Given the description of an element on the screen output the (x, y) to click on. 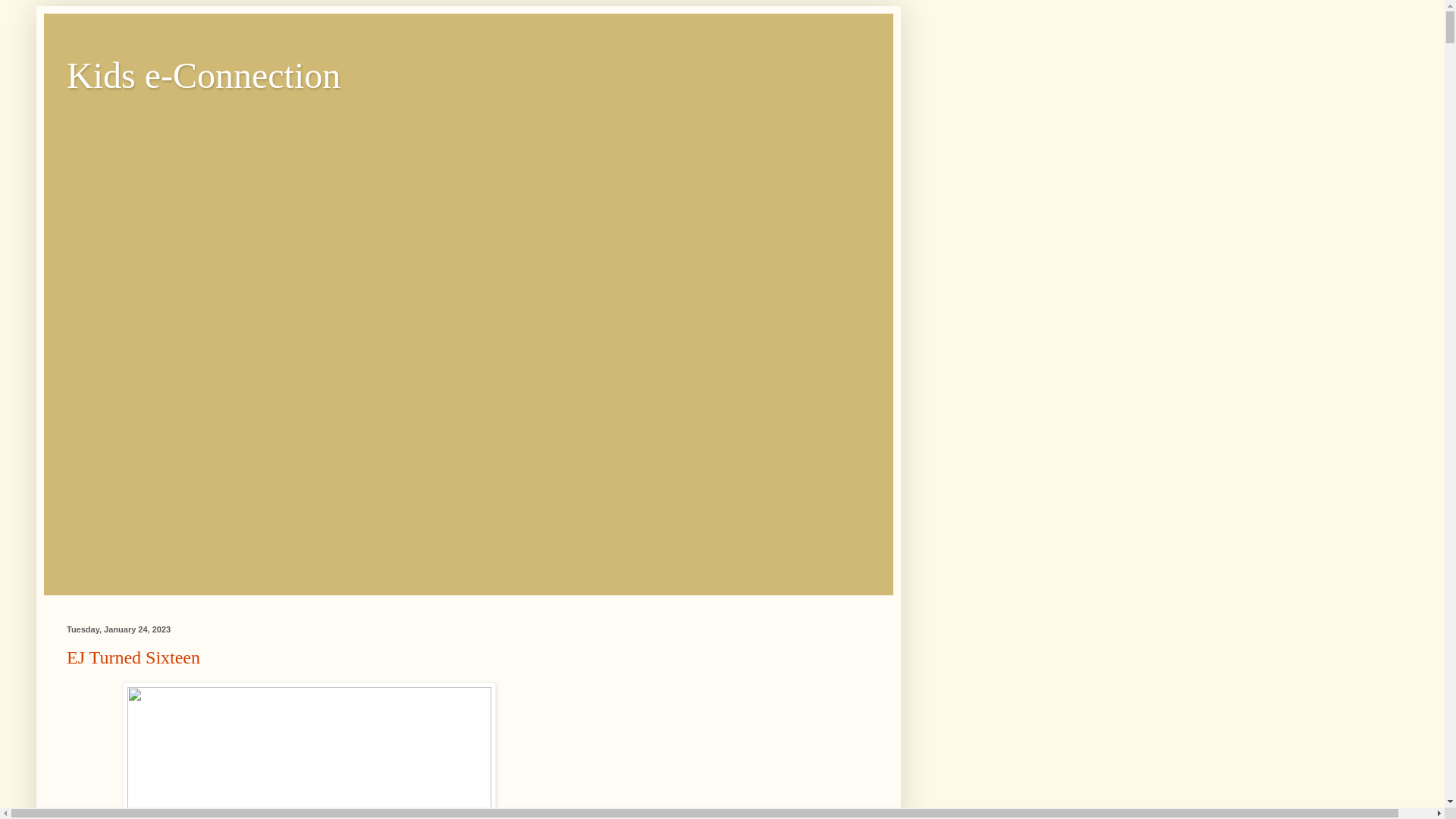
EJ Turned Sixteen (133, 657)
Kids e-Connection (203, 75)
